Given the description of an element on the screen output the (x, y) to click on. 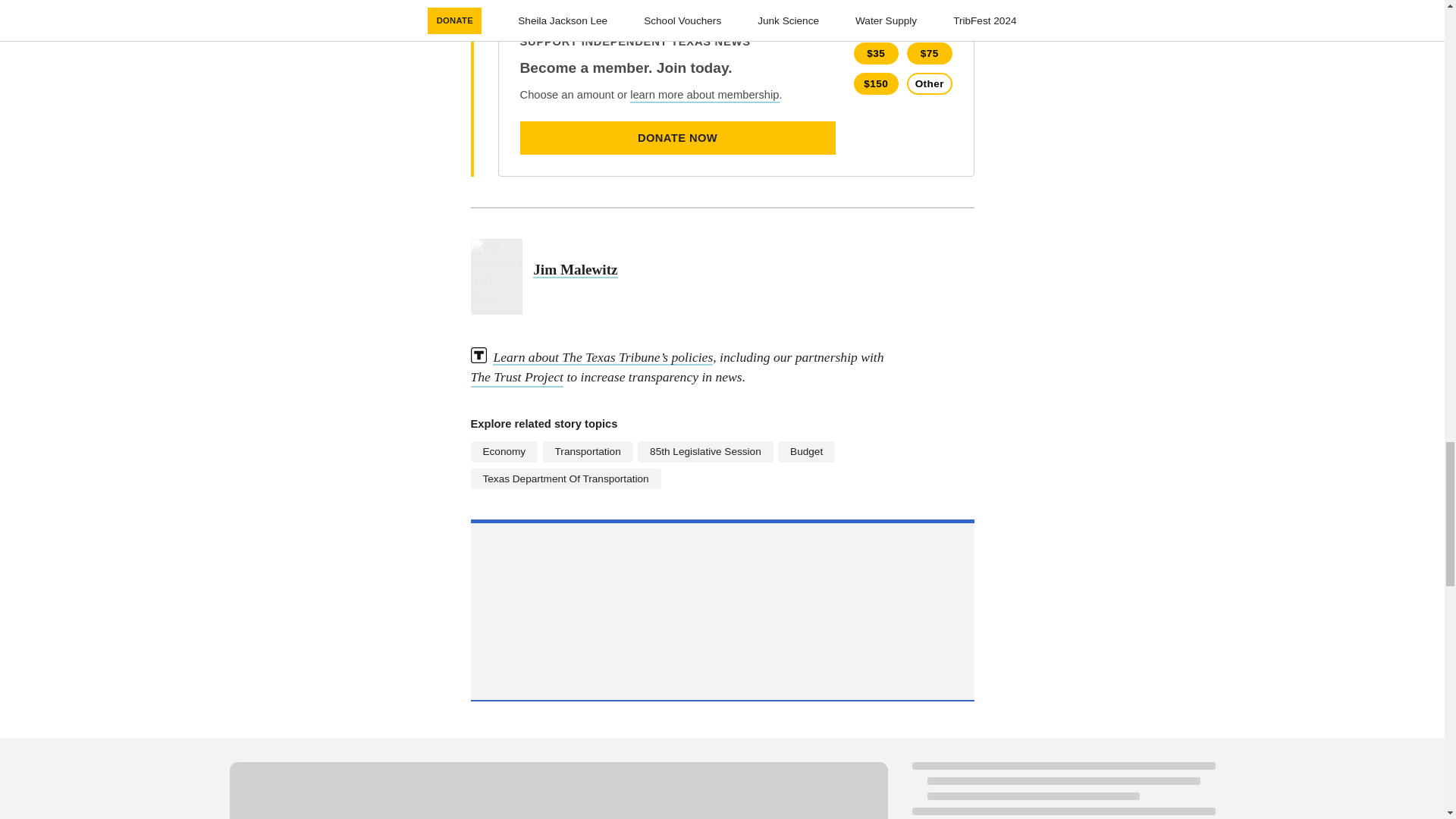
Loading indicator (557, 790)
Loading indicator (1062, 790)
